Given the description of an element on the screen output the (x, y) to click on. 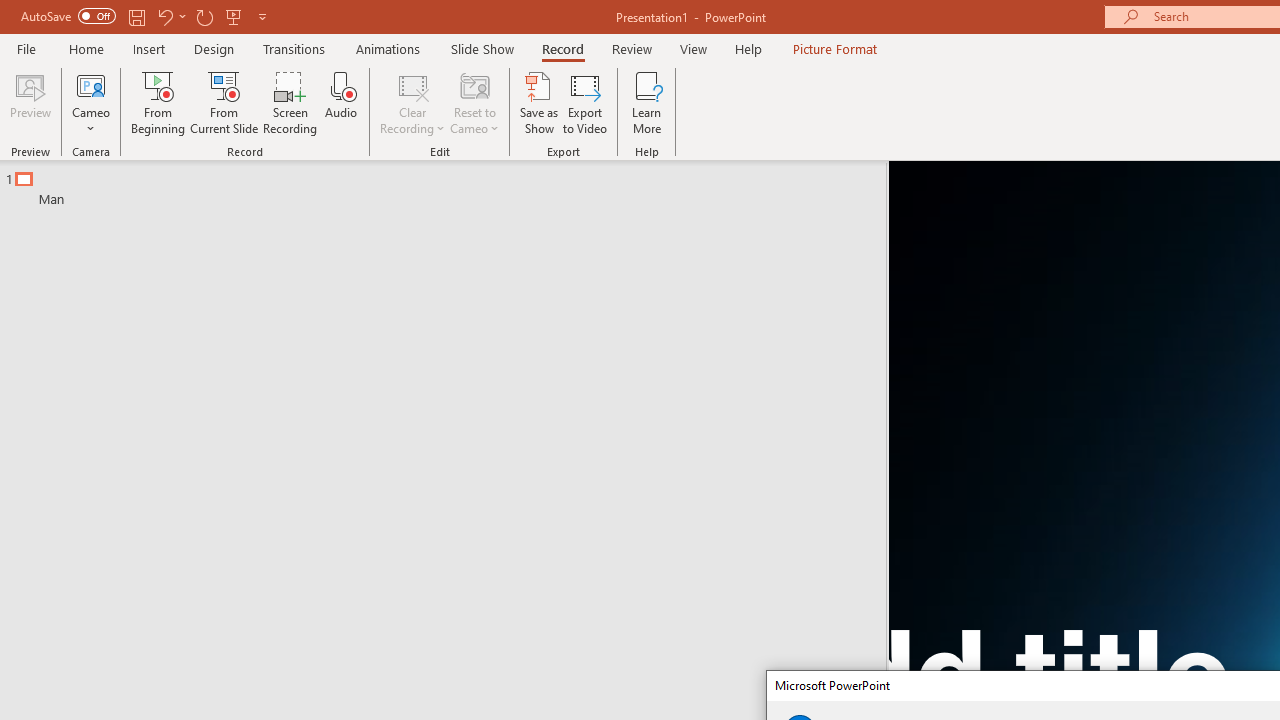
Outline (452, 184)
